Given the description of an element on the screen output the (x, y) to click on. 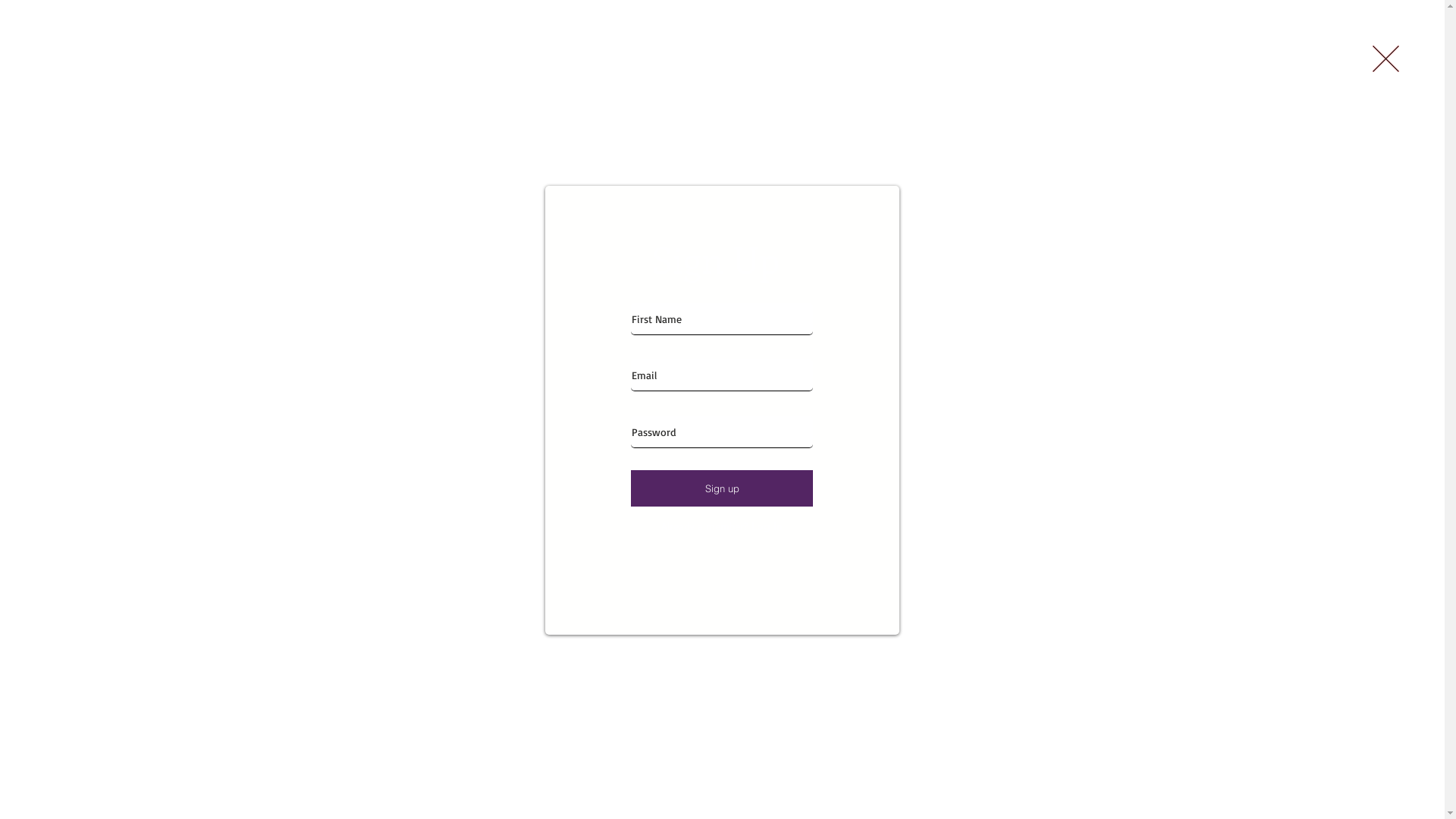
Sign up Element type: text (721, 488)
Back to site Element type: hover (1385, 58)
